Given the description of an element on the screen output the (x, y) to click on. 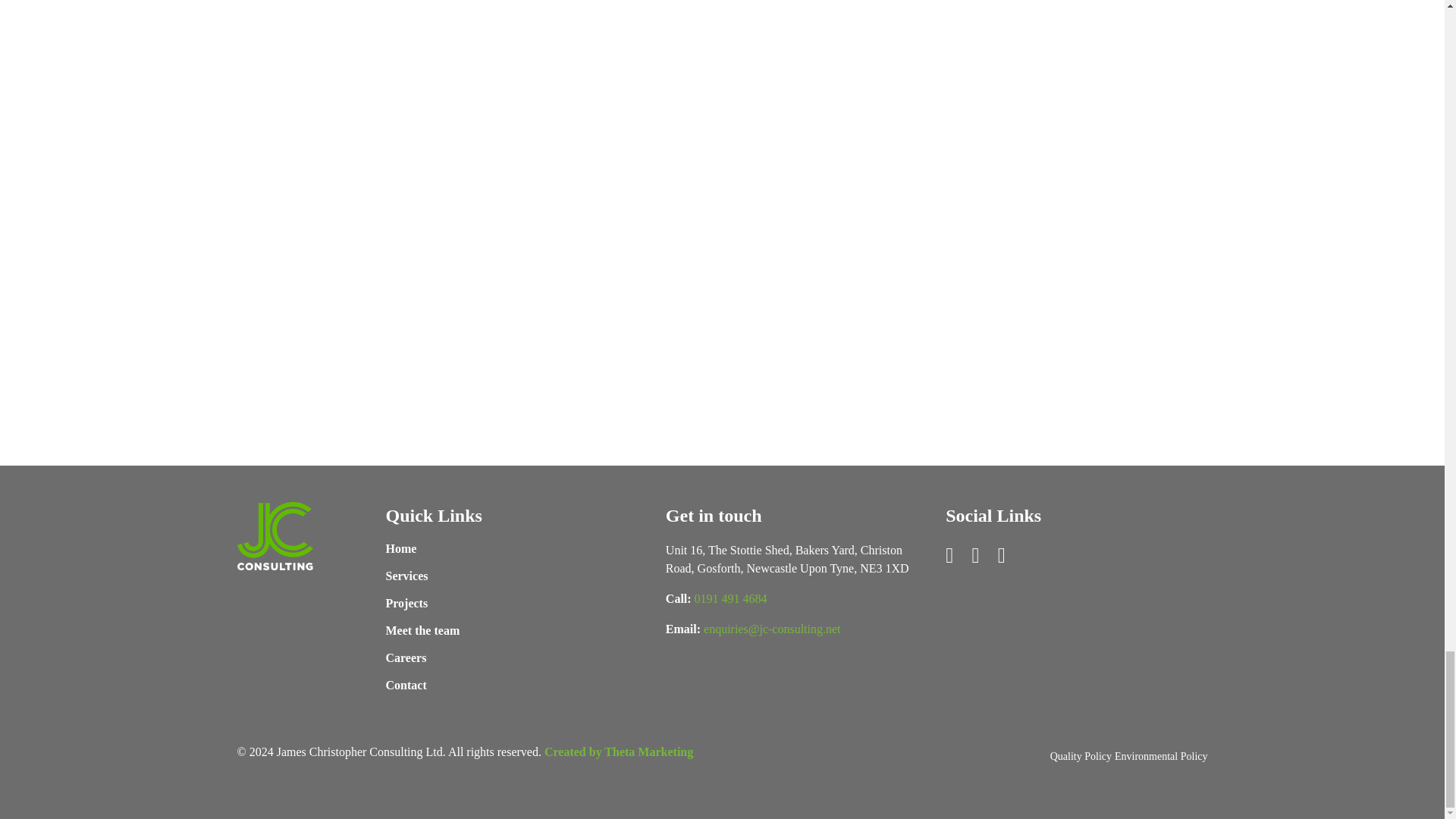
Meet the team (422, 630)
0191 491 4684 (730, 598)
Created by Theta Marketing (618, 751)
Services (406, 575)
Home (400, 548)
Quality Policy (1080, 756)
Environmental Policy (1161, 756)
Contact (405, 685)
Projects (406, 603)
Careers (405, 657)
